Given the description of an element on the screen output the (x, y) to click on. 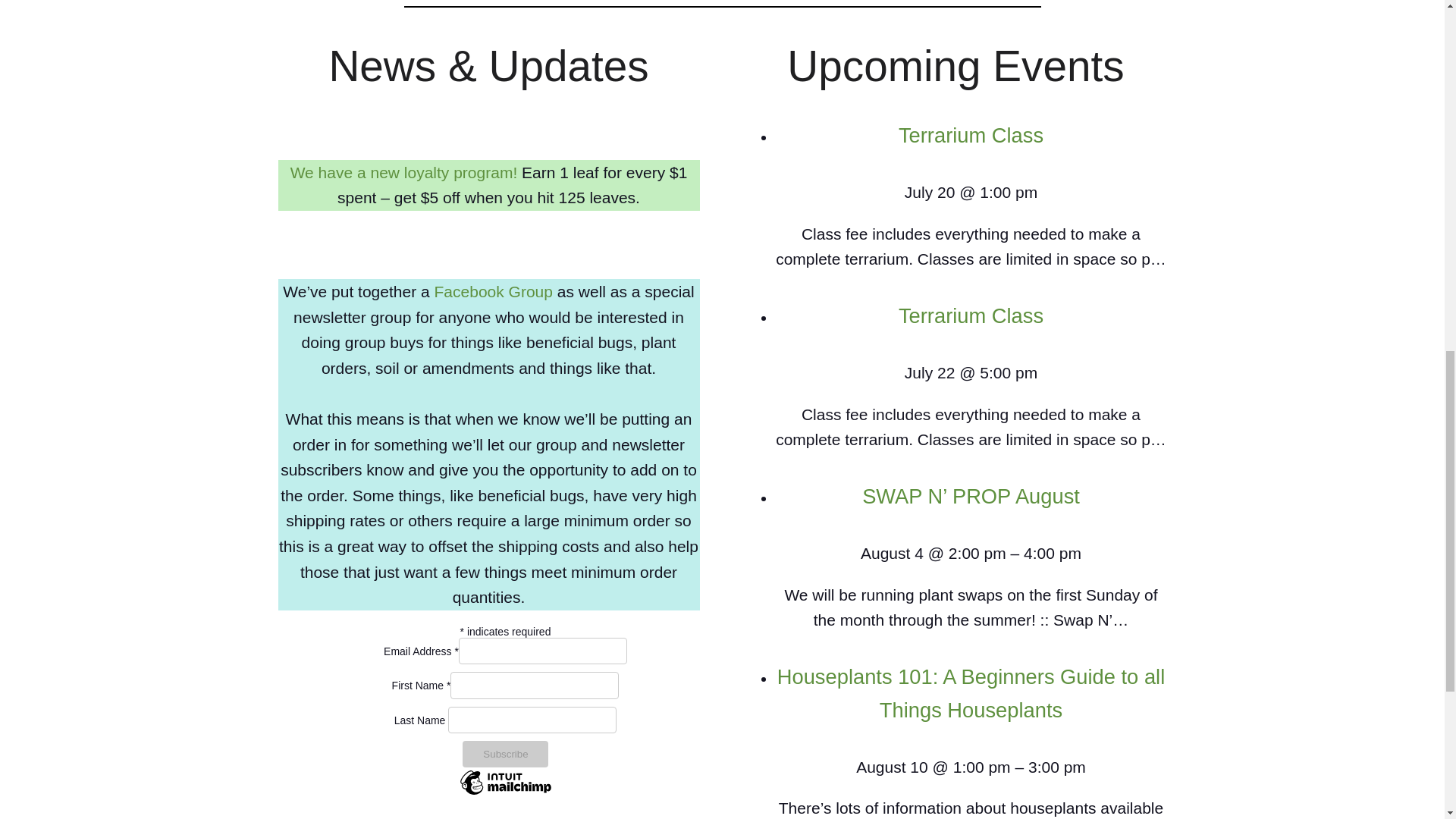
We have a new loyalty program! (405, 171)
Houseplants 101: A Beginners Guide to all Things Houseplants (970, 693)
Terrarium Class (970, 135)
Subscribe (505, 754)
Facebook Group (493, 291)
Terrarium Class (970, 315)
Subscribe (505, 754)
Mailchimp - email marketing made easy and fun (505, 791)
